Given the description of an element on the screen output the (x, y) to click on. 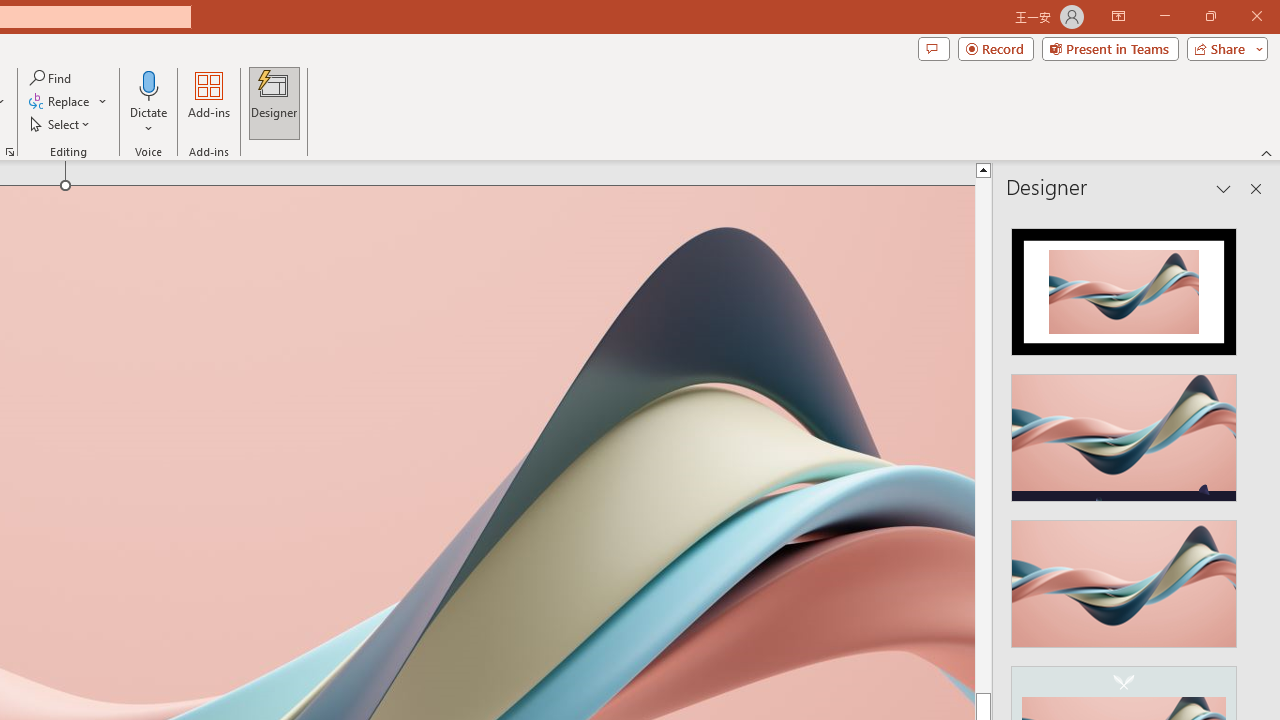
Design Idea (1124, 577)
Replace (226, 579)
Recommended Design: Design Idea (1124, 286)
